Given the description of an element on the screen output the (x, y) to click on. 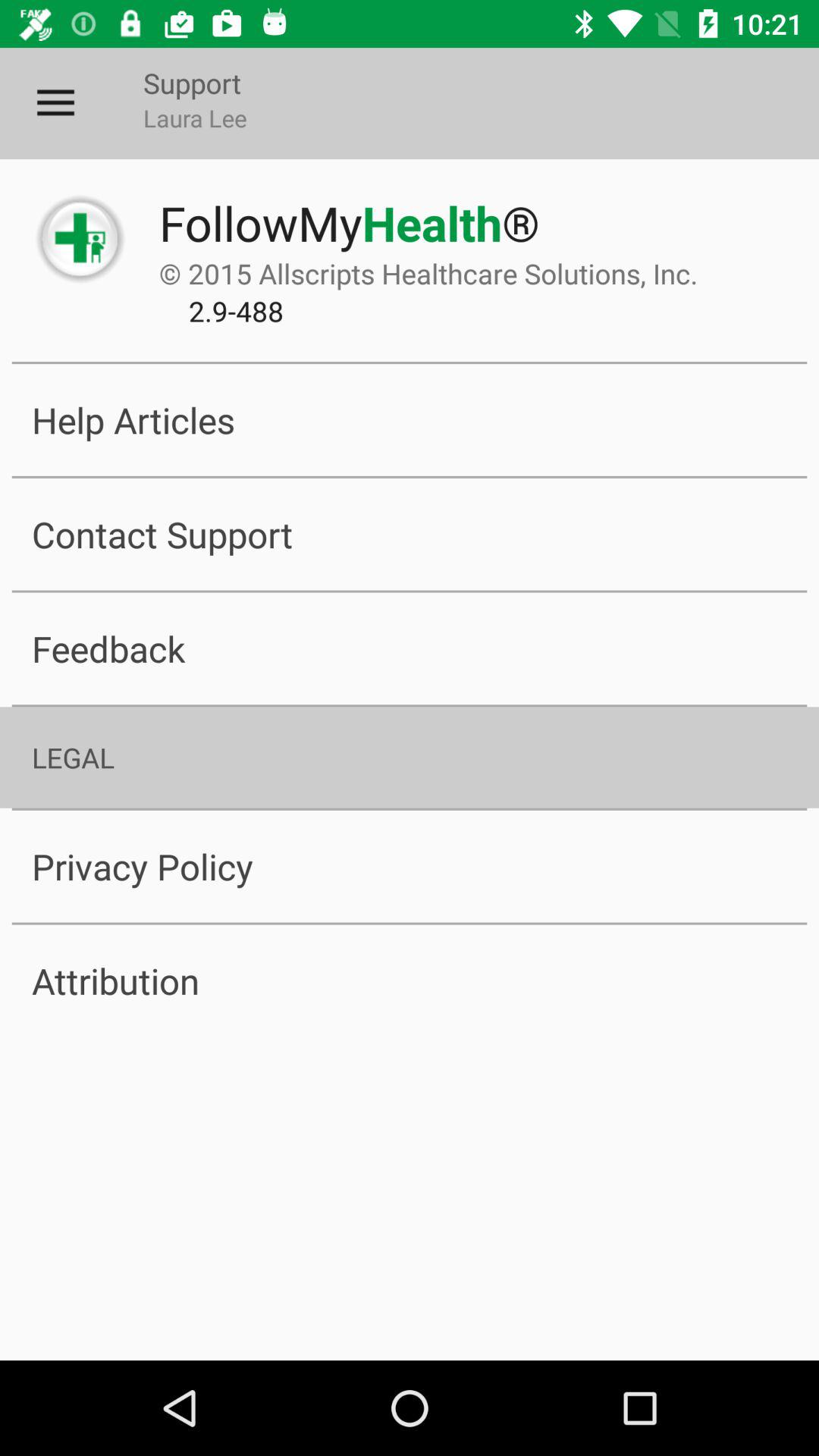
turn on icon to the left of the support icon (55, 103)
